Given the description of an element on the screen output the (x, y) to click on. 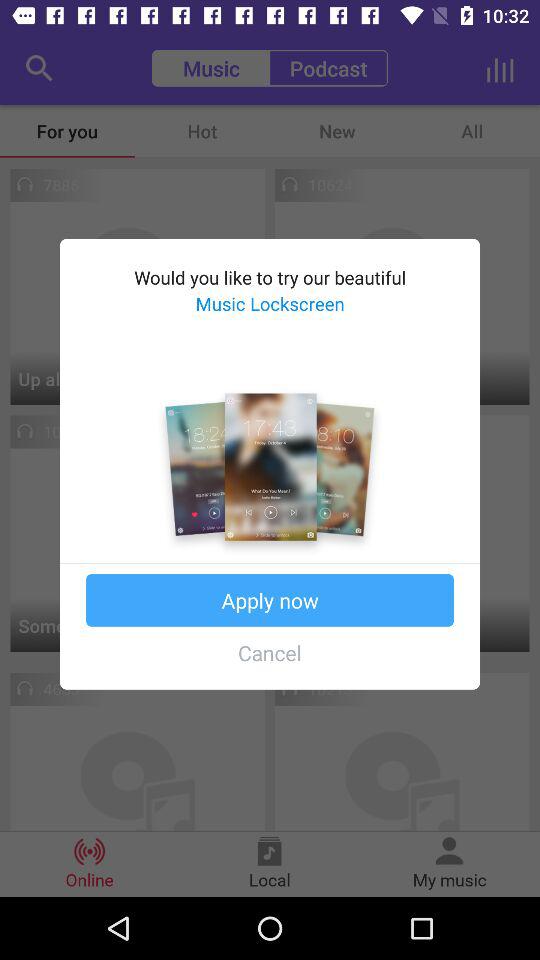
choose the cancel item (269, 652)
